Given the description of an element on the screen output the (x, y) to click on. 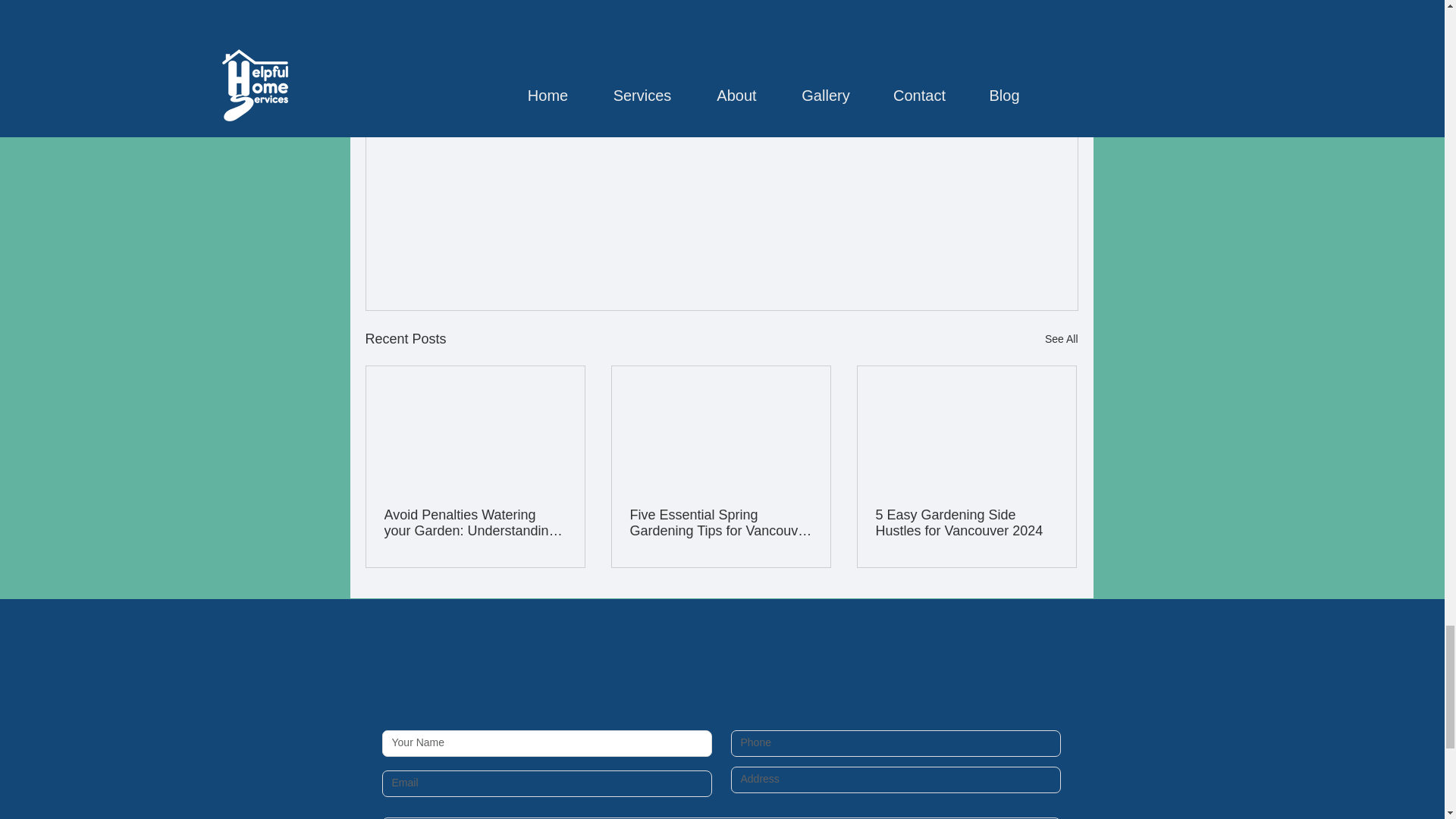
See All (1061, 339)
5 Easy Gardening Side Hustles for Vancouver 2024 (966, 522)
